Given the description of an element on the screen output the (x, y) to click on. 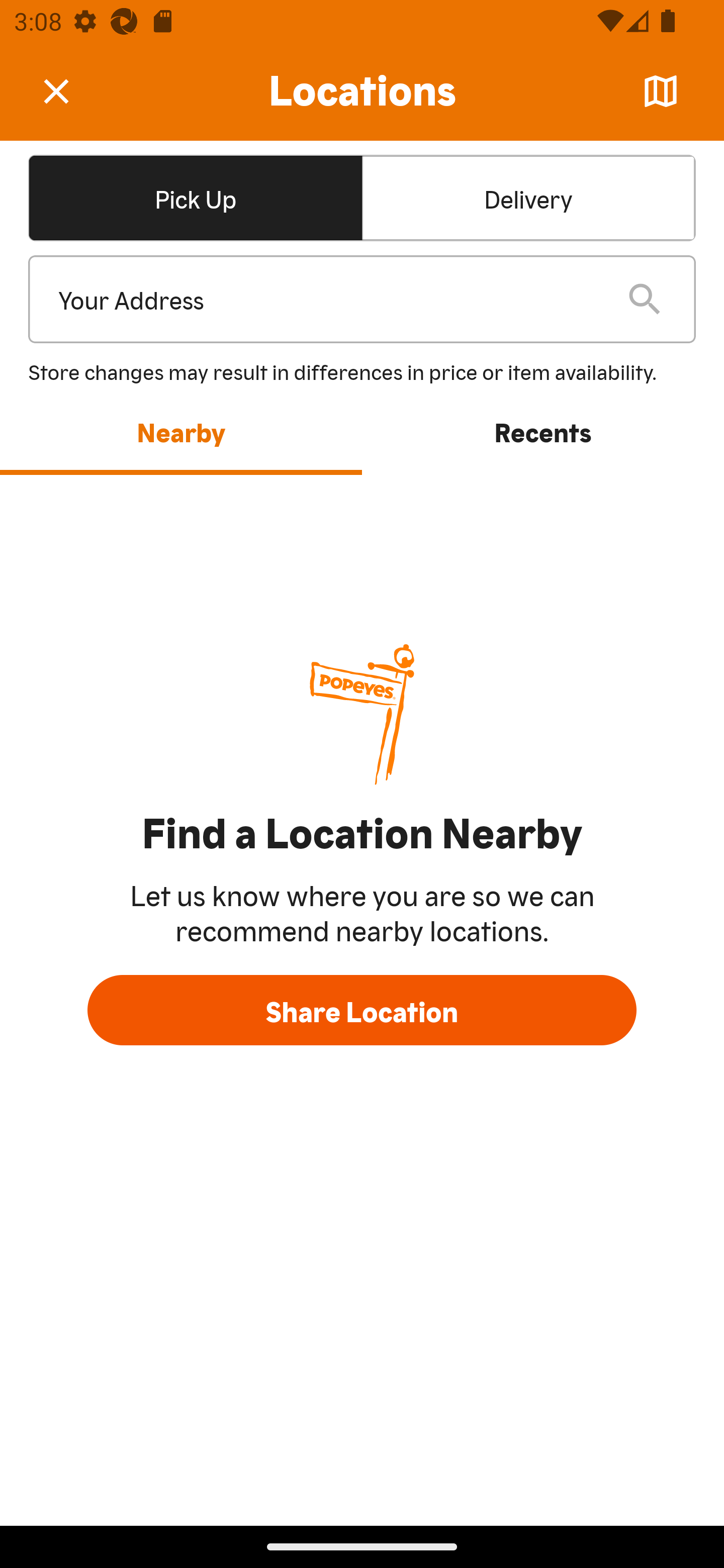
 (70, 90)
Map 󰦂 (660, 91)
Locations (362, 91)
Pick UpSelected Pick UpSelected Pick Up (195, 197)
Delivery Delivery Delivery (528, 197)
Your Address (327, 299)
Nearby (181, 430)
Recents (543, 430)
Share Location (361, 1010)
